Given the description of an element on the screen output the (x, y) to click on. 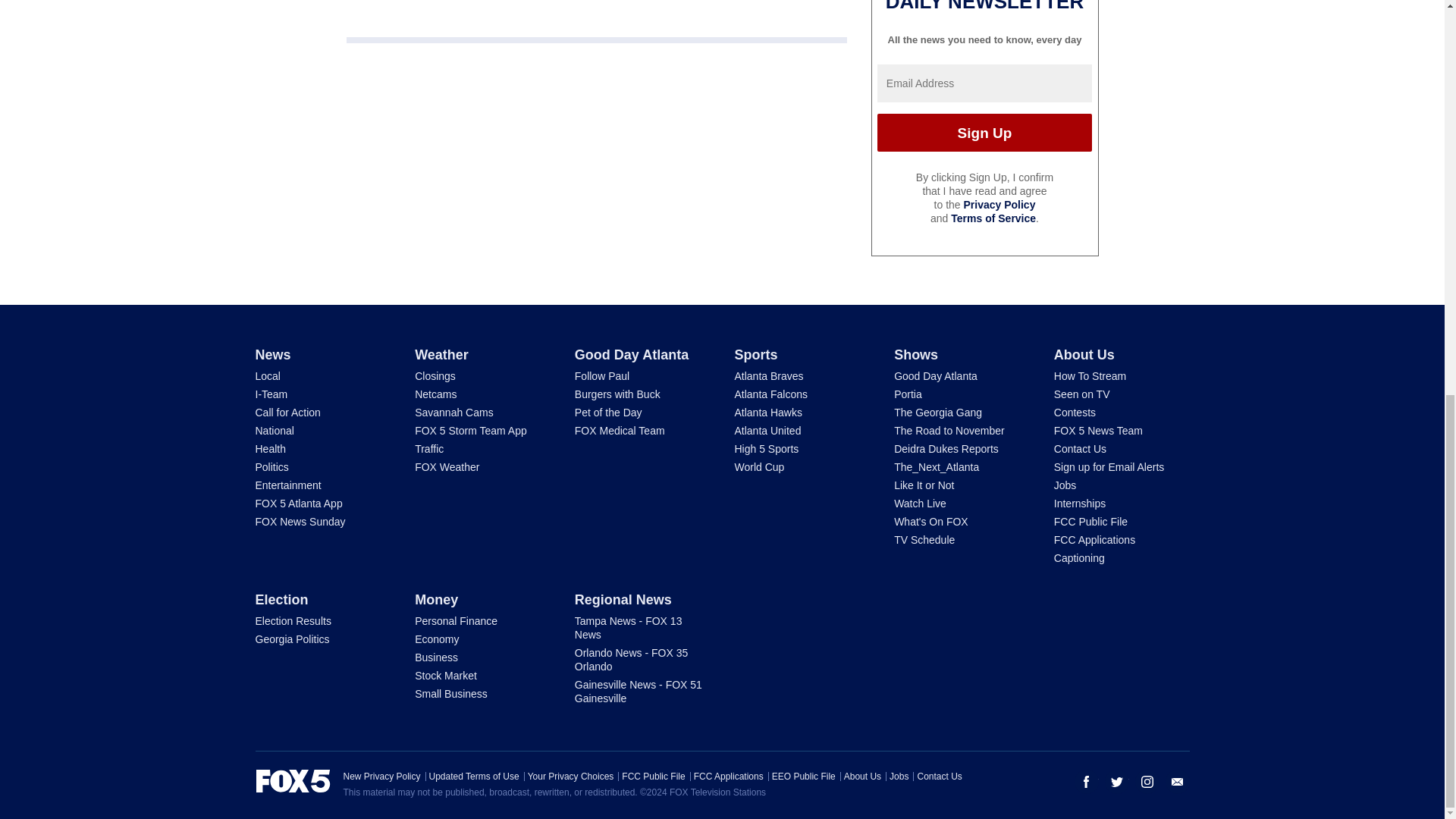
Sign Up (984, 132)
